Given the description of an element on the screen output the (x, y) to click on. 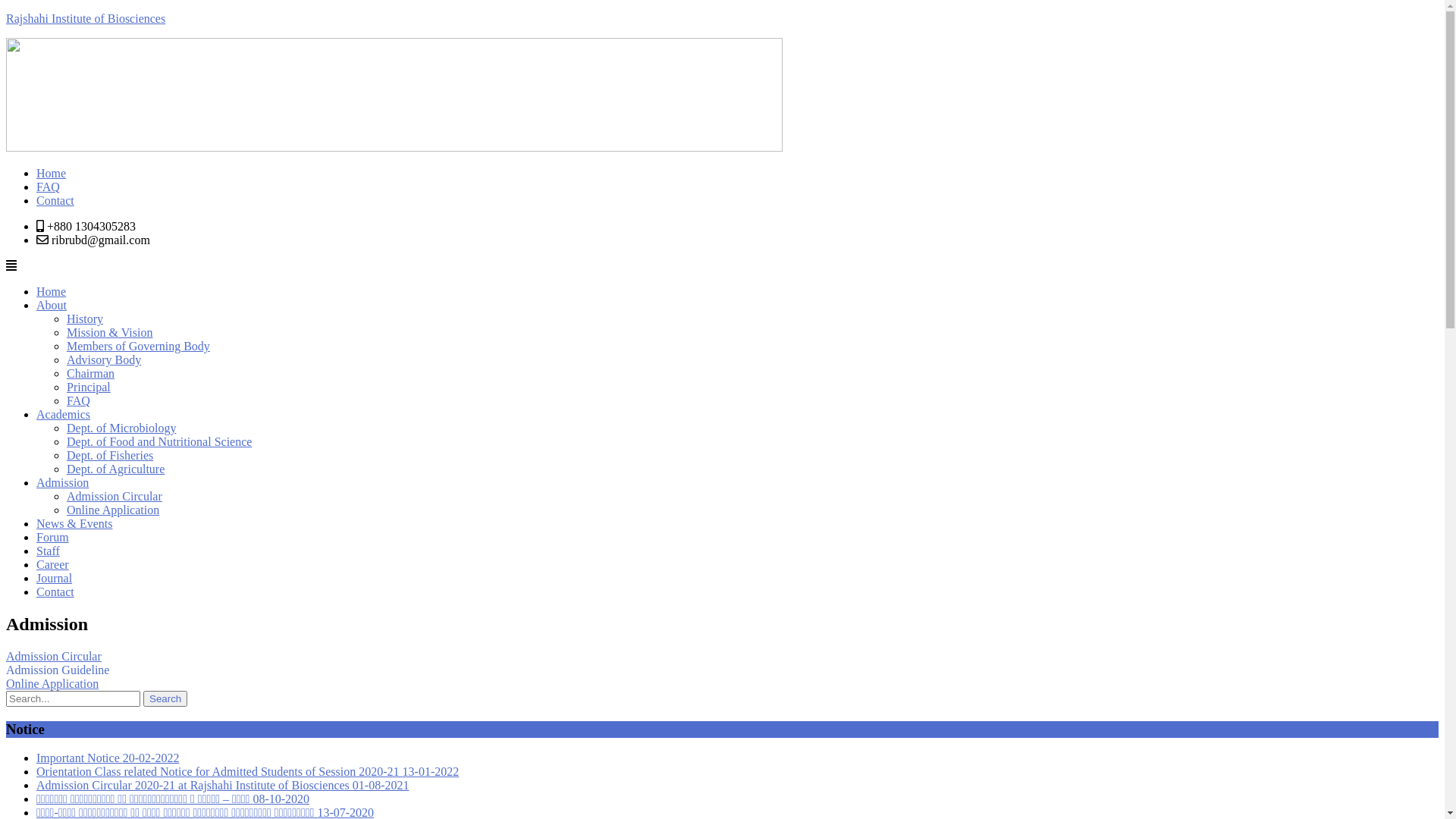
Dept. of Microbiology Element type: text (120, 427)
Forum Element type: text (52, 536)
Admission Circular Element type: text (53, 655)
Advisory Body Element type: text (103, 359)
Admission Guideline Element type: text (57, 669)
Important Notice 20-02-2022 Element type: text (107, 757)
Dept. of Fisheries Element type: text (109, 454)
News & Events Element type: text (74, 523)
Staff Element type: text (47, 550)
Career Element type: text (52, 564)
Contact Element type: text (55, 591)
Academics Element type: text (63, 413)
Home Element type: text (50, 172)
Rajshahi Institute of Biosciences Element type: text (85, 18)
Online Application Element type: text (52, 683)
Chairman Element type: text (90, 373)
Journal Element type: text (54, 577)
Admission Element type: text (62, 482)
History Element type: text (84, 318)
Dept. of Food and Nutritional Science Element type: text (158, 441)
Contact Element type: text (55, 200)
Members of Governing Body Element type: text (138, 345)
Home Element type: text (50, 291)
About Element type: text (51, 304)
Admission Circular Element type: text (114, 495)
Search Element type: text (165, 698)
Online Application Element type: text (112, 509)
Principal Element type: text (88, 386)
FAQ Element type: text (78, 400)
Dept. of Agriculture Element type: text (115, 468)
Mission & Vision Element type: text (109, 332)
FAQ Element type: text (47, 186)
